Given the description of an element on the screen output the (x, y) to click on. 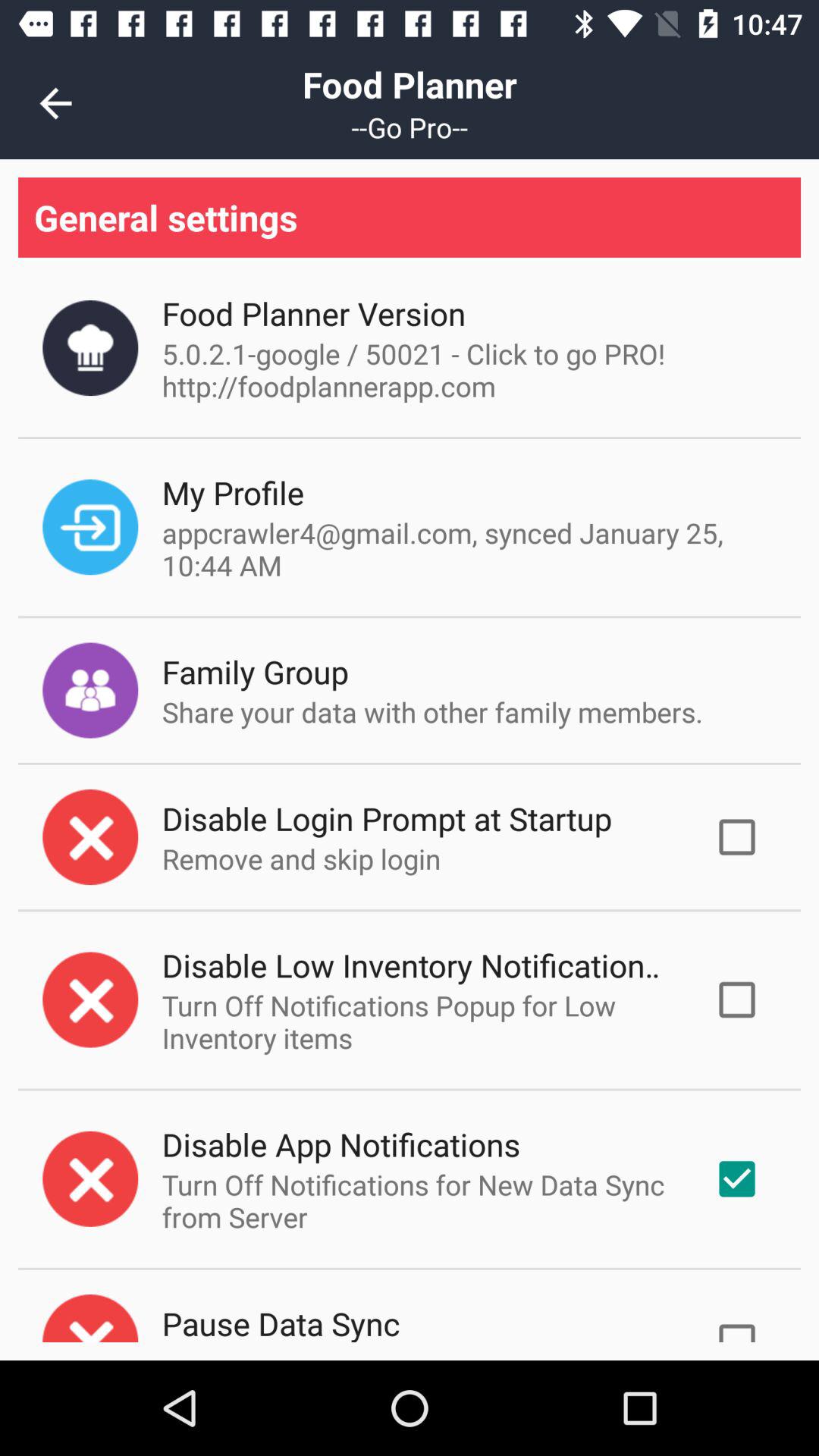
open item below my profile (465, 549)
